Given the description of an element on the screen output the (x, y) to click on. 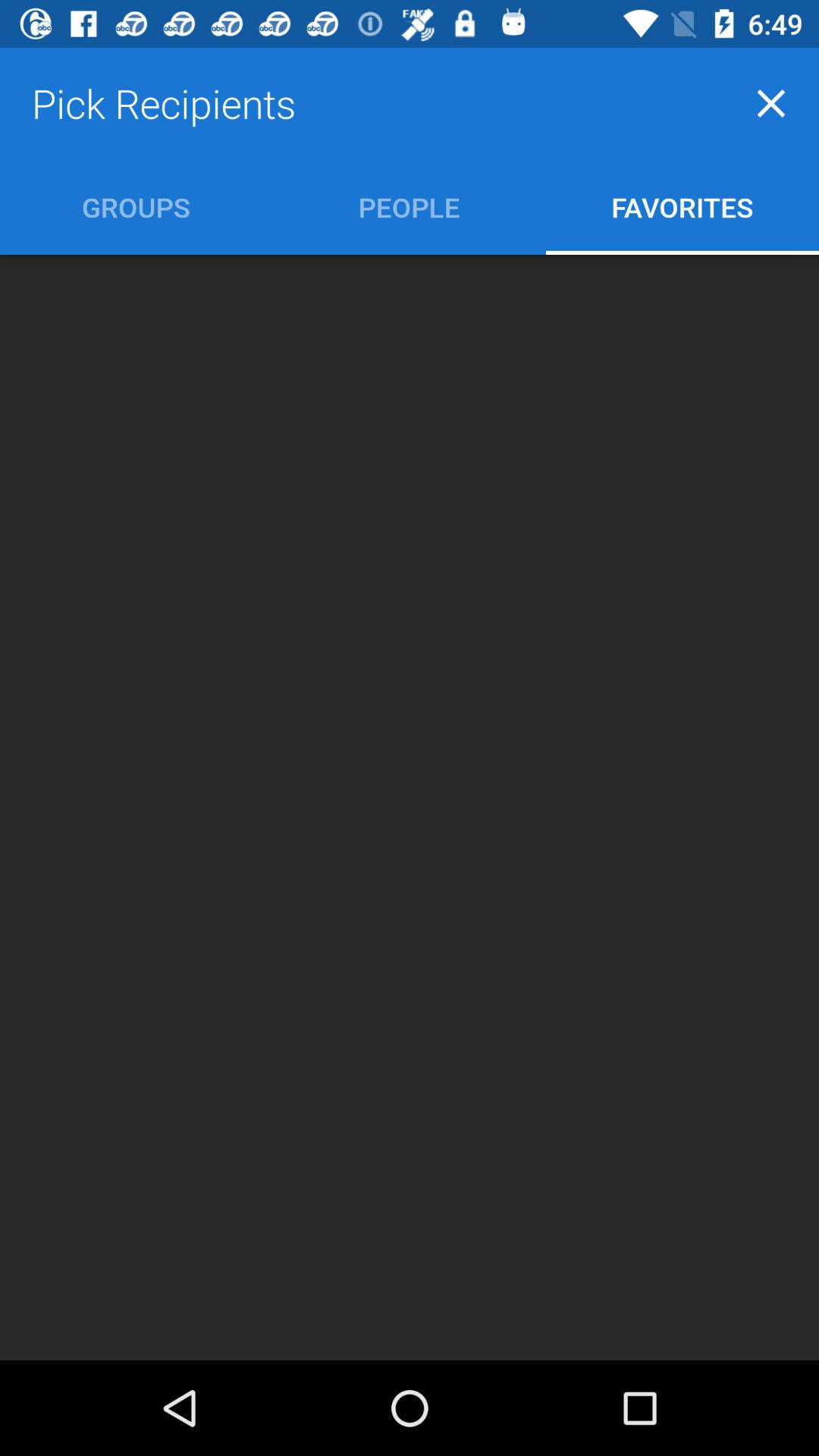
tap icon to the right of pick recipients icon (771, 103)
